Given the description of an element on the screen output the (x, y) to click on. 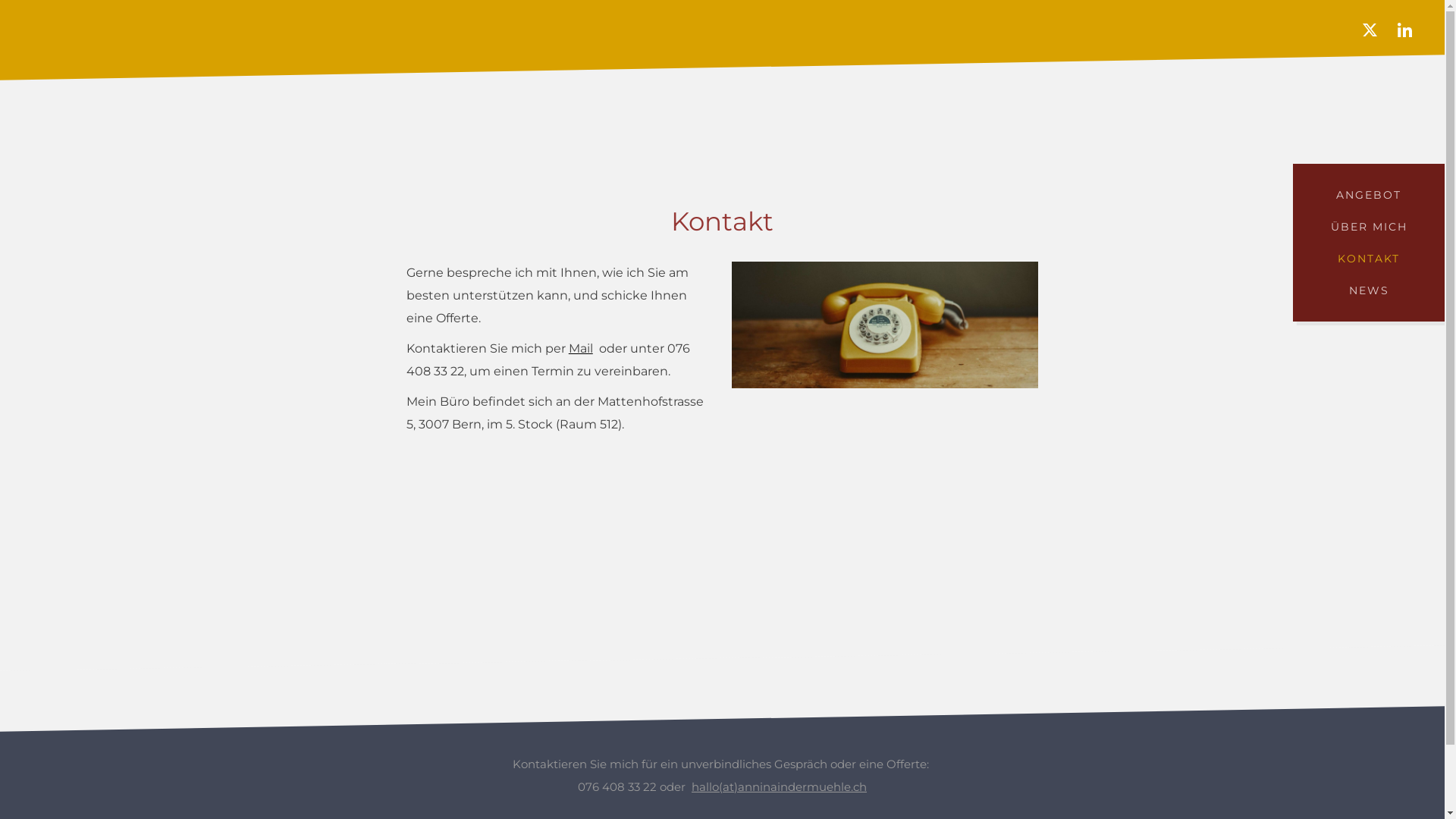
Mail Element type: text (580, 348)
KONTAKT Element type: text (1368, 258)
NEWS Element type: text (1368, 290)
ANGEBOT Element type: text (1368, 194)
hallo(at)anninaindermuehle.ch Element type: text (778, 787)
